Given the description of an element on the screen output the (x, y) to click on. 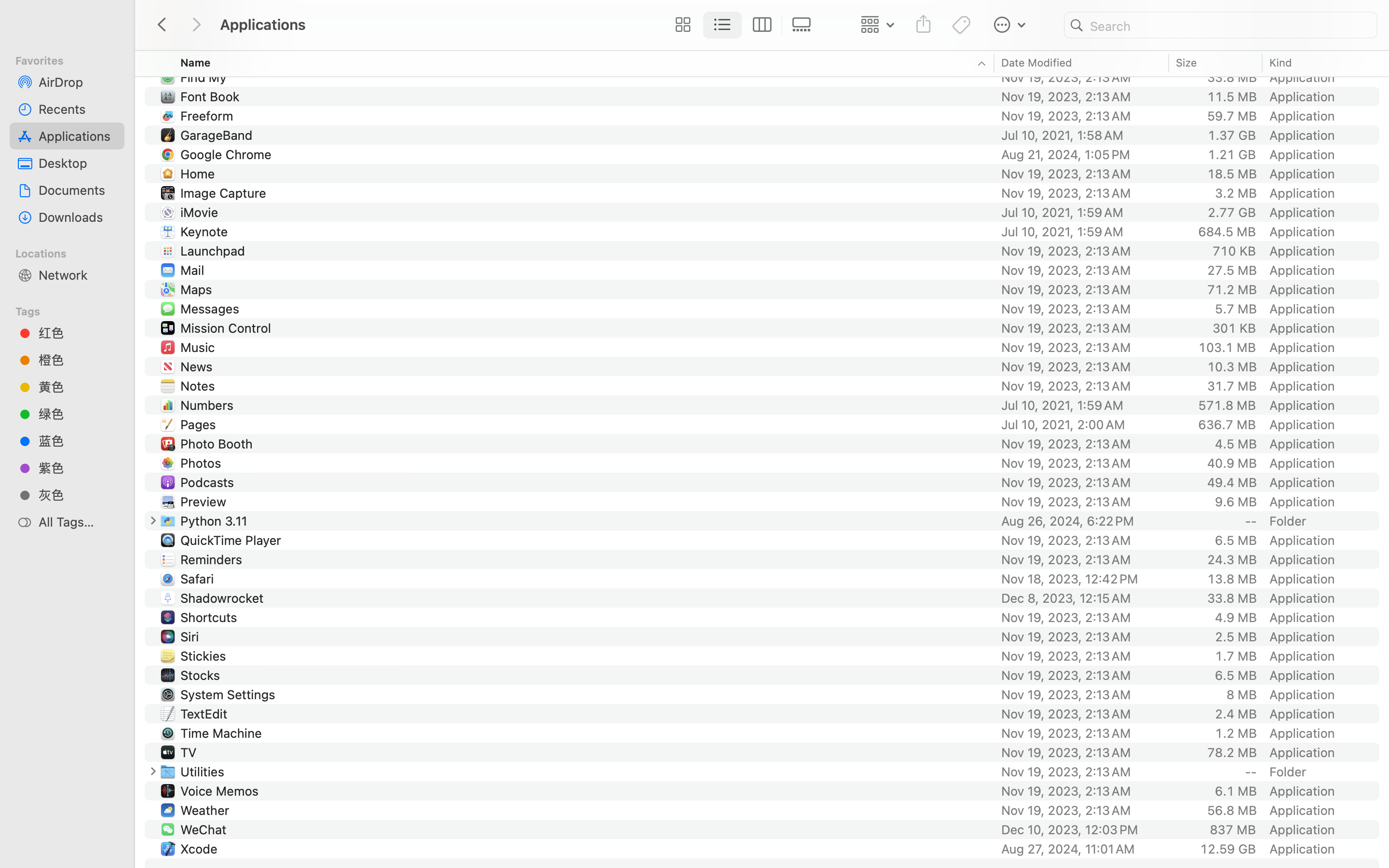
Google Chrome Element type: AXTextField (227, 154)
FaceTime Element type: AXTextField (210, 57)
33.8 MB Element type: AXStaticText (1231, 597)
13.8 MB Element type: AXStaticText (1231, 578)
56.8 MB Element type: AXStaticText (1231, 809)
